Given the description of an element on the screen output the (x, y) to click on. 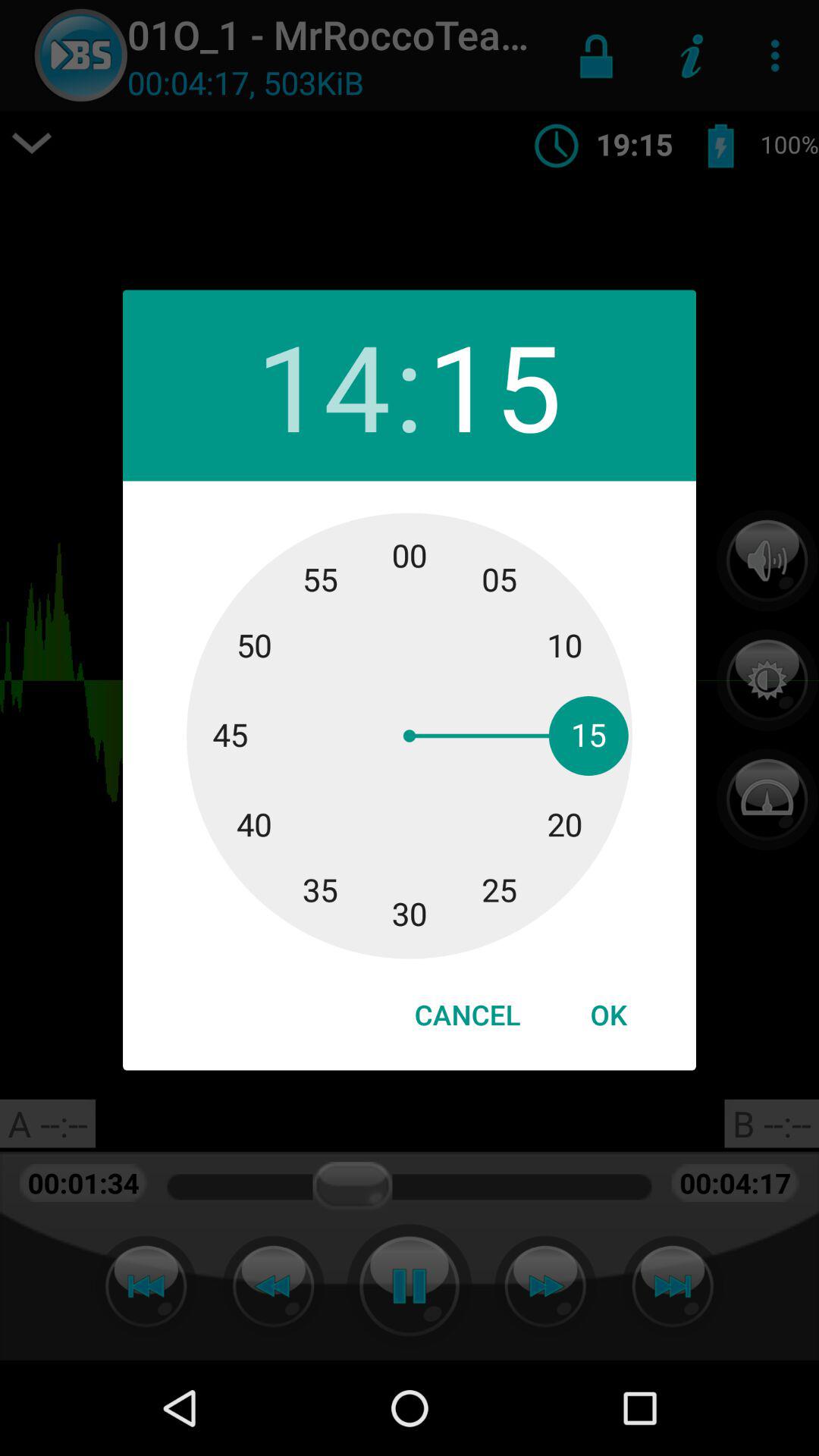
turn on cancel item (467, 1014)
